Given the description of an element on the screen output the (x, y) to click on. 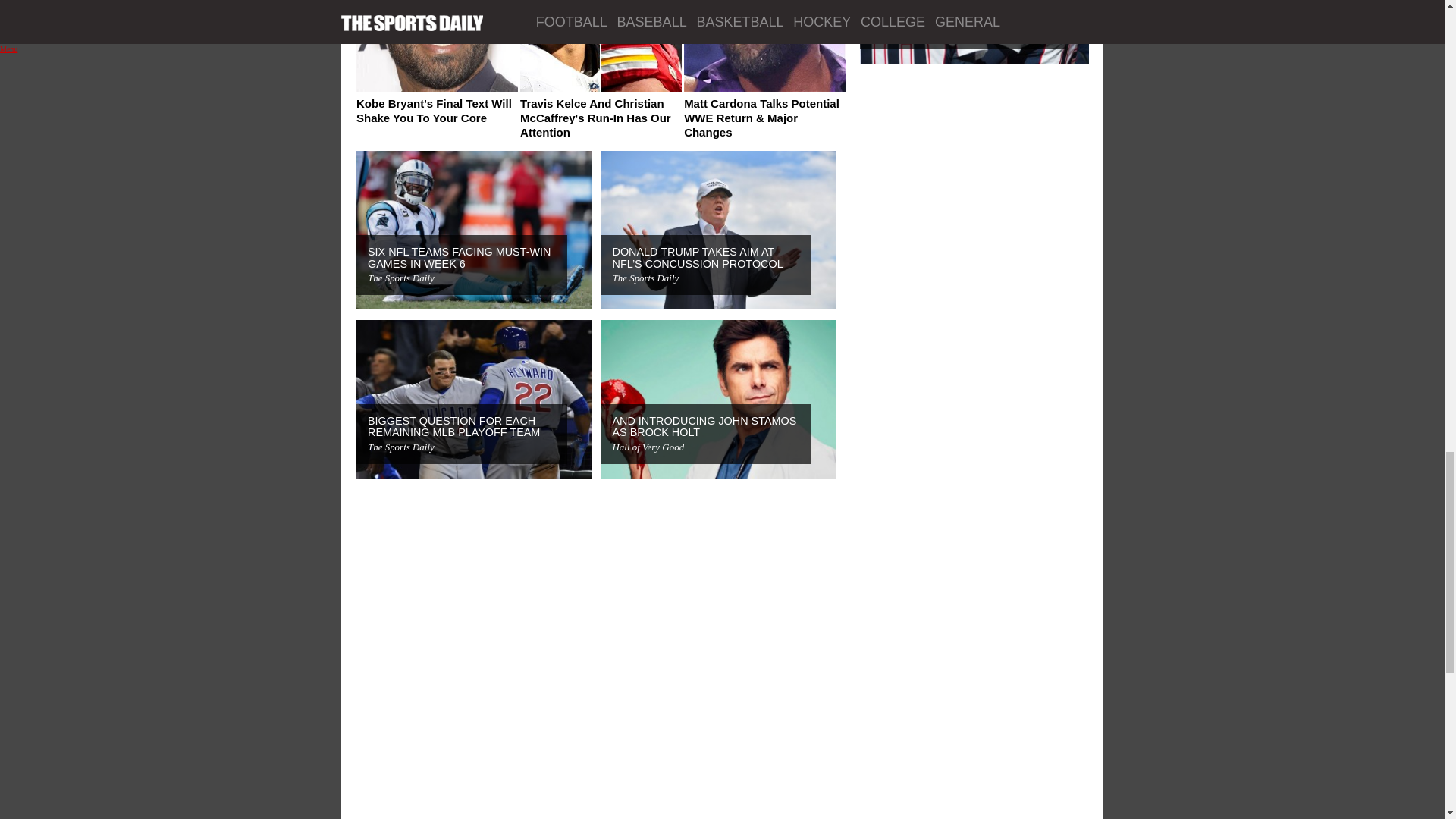
Six NFL teams facing must-win games in Week 6 (459, 257)
And Introducing John Stamos as Brock Holt (703, 426)
Biggest question for each remaining MLB playoff team (454, 426)
